Given the description of an element on the screen output the (x, y) to click on. 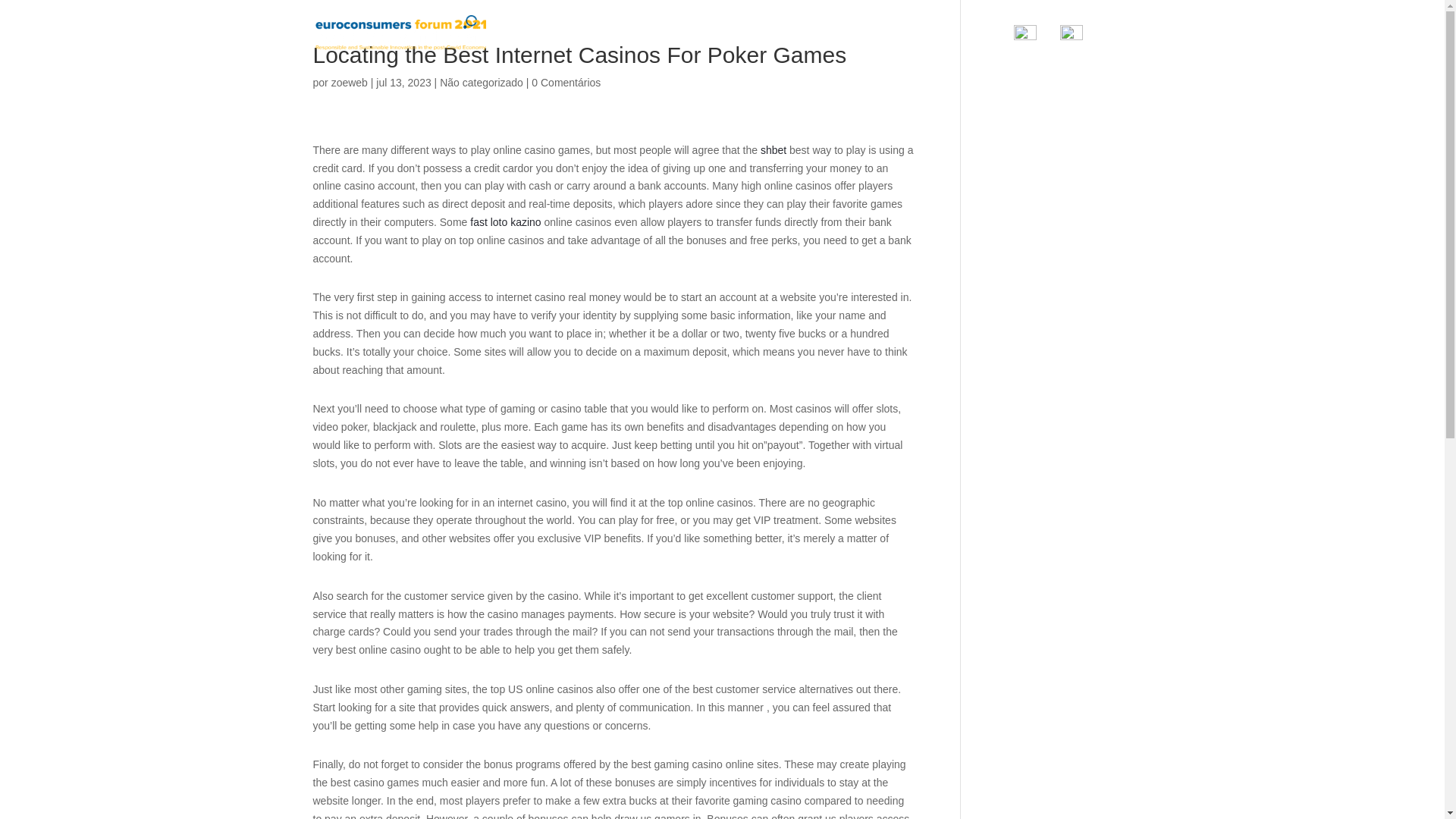
Schedule (893, 44)
Archive (955, 44)
Speakers (826, 44)
Postagem de zoeweb (349, 82)
EN (1035, 45)
zoeweb (349, 82)
PT (1080, 45)
fast loto kazino (505, 222)
shbet (773, 150)
